Given the description of an element on the screen output the (x, y) to click on. 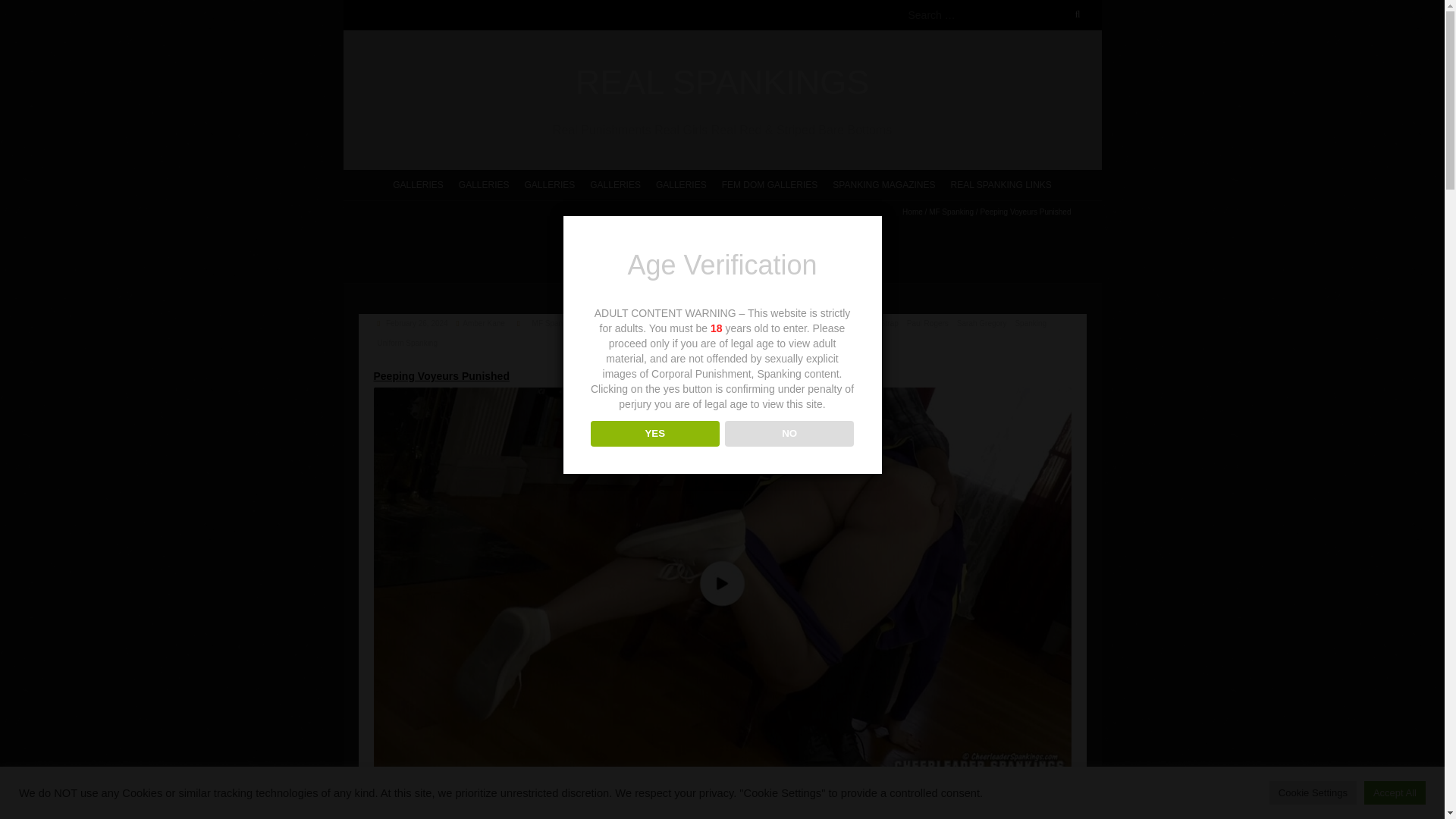
REAL SPANKINGS (721, 82)
GALLERIES (418, 184)
GALLERIES (549, 184)
Real Spankings (721, 82)
Peeping Voyeurs Punished (416, 323)
Category (518, 322)
View all posts by Amber Kane (484, 323)
GALLERIES (614, 184)
Search (28, 9)
GALLERIES (483, 184)
